Given the description of an element on the screen output the (x, y) to click on. 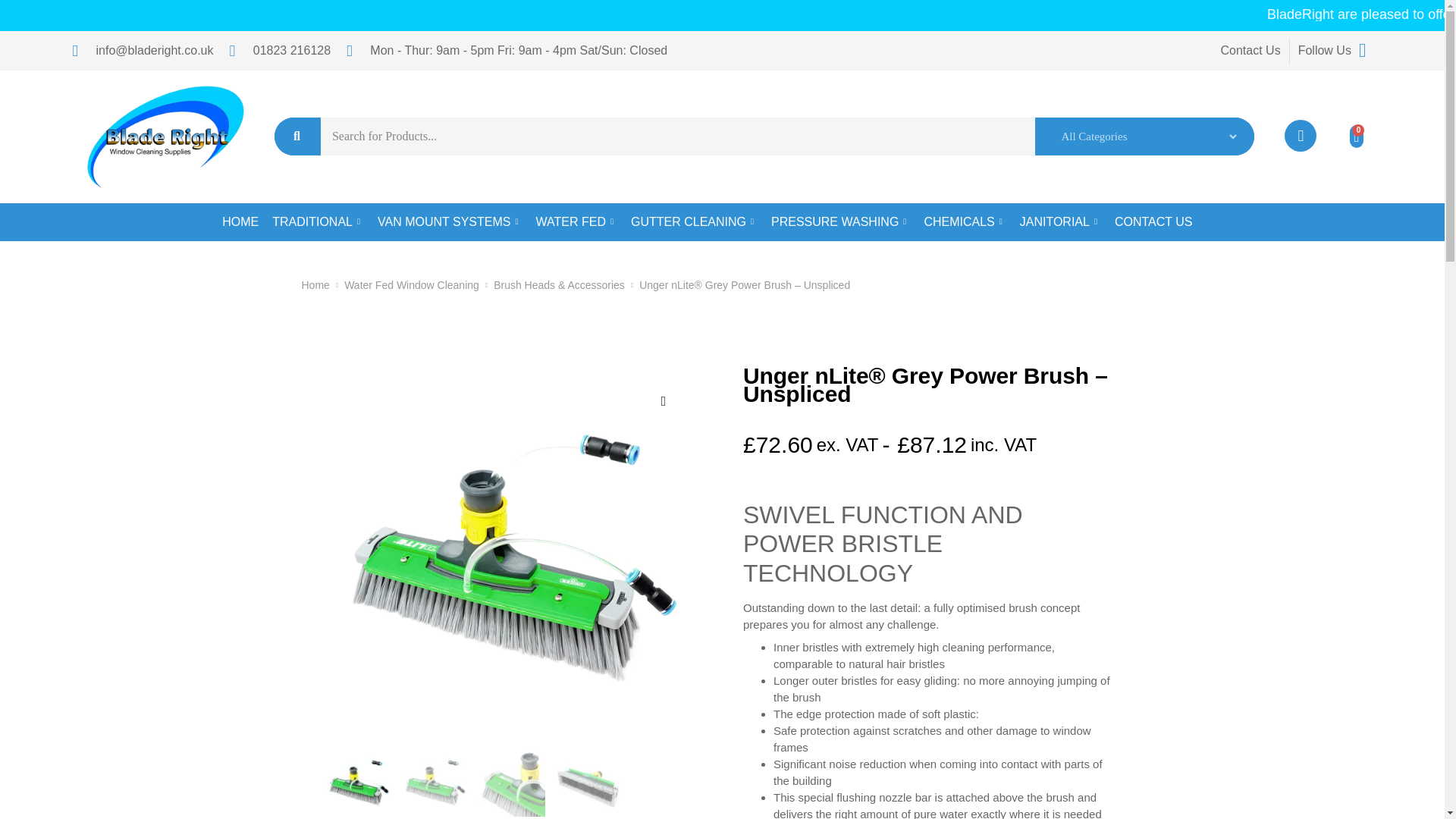
01823 216128 (279, 50)
Product Thumbnail (663, 401)
